Given the description of an element on the screen output the (x, y) to click on. 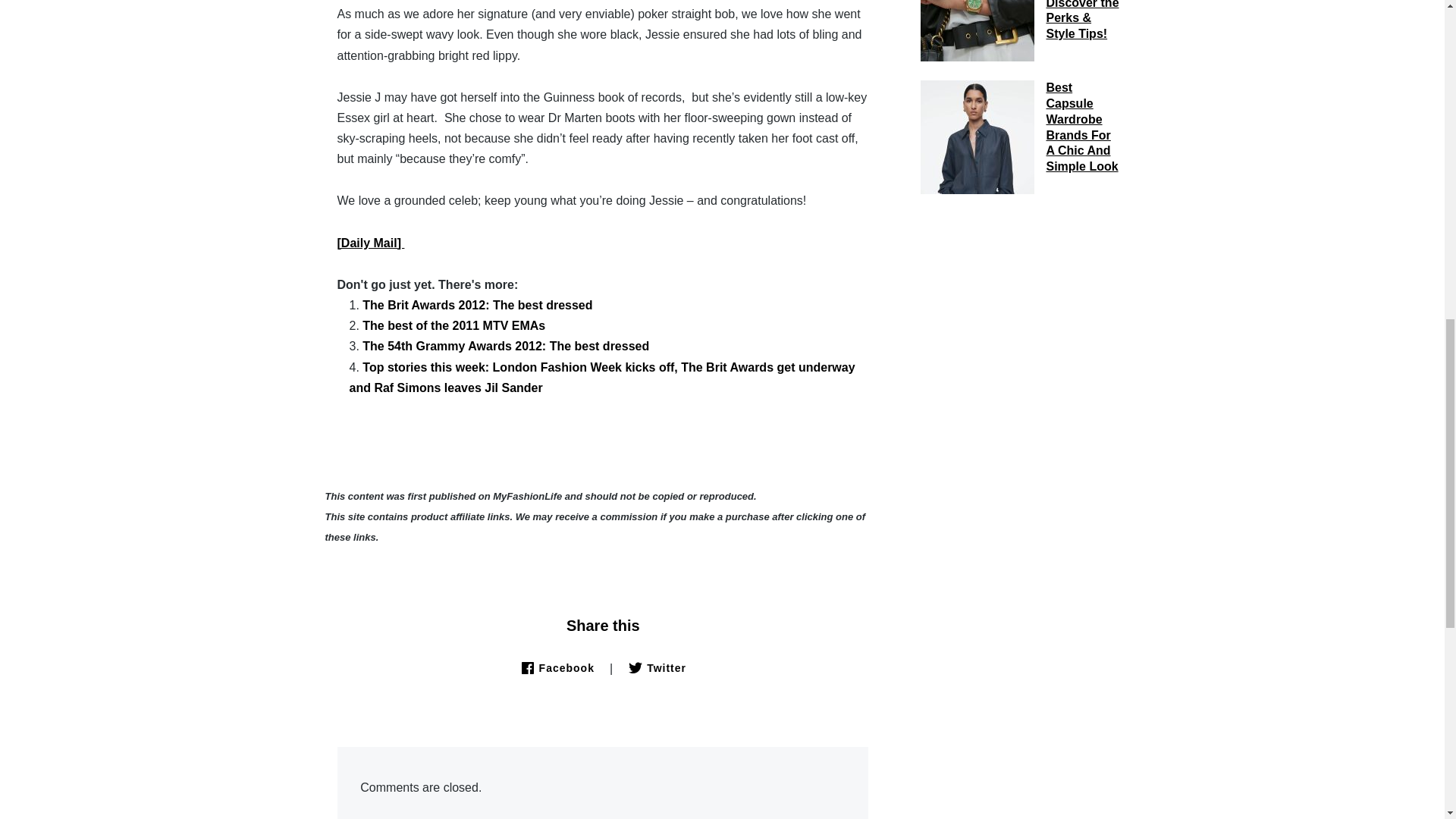
The 54th Grammy Awards 2012: The best dressed (505, 345)
Share this on Facebook (556, 667)
Tweet this on Twitter (656, 667)
The best of the 2011 MTV EMAs (453, 325)
The Brit Awards 2012: The best dressed (477, 305)
